Given the description of an element on the screen output the (x, y) to click on. 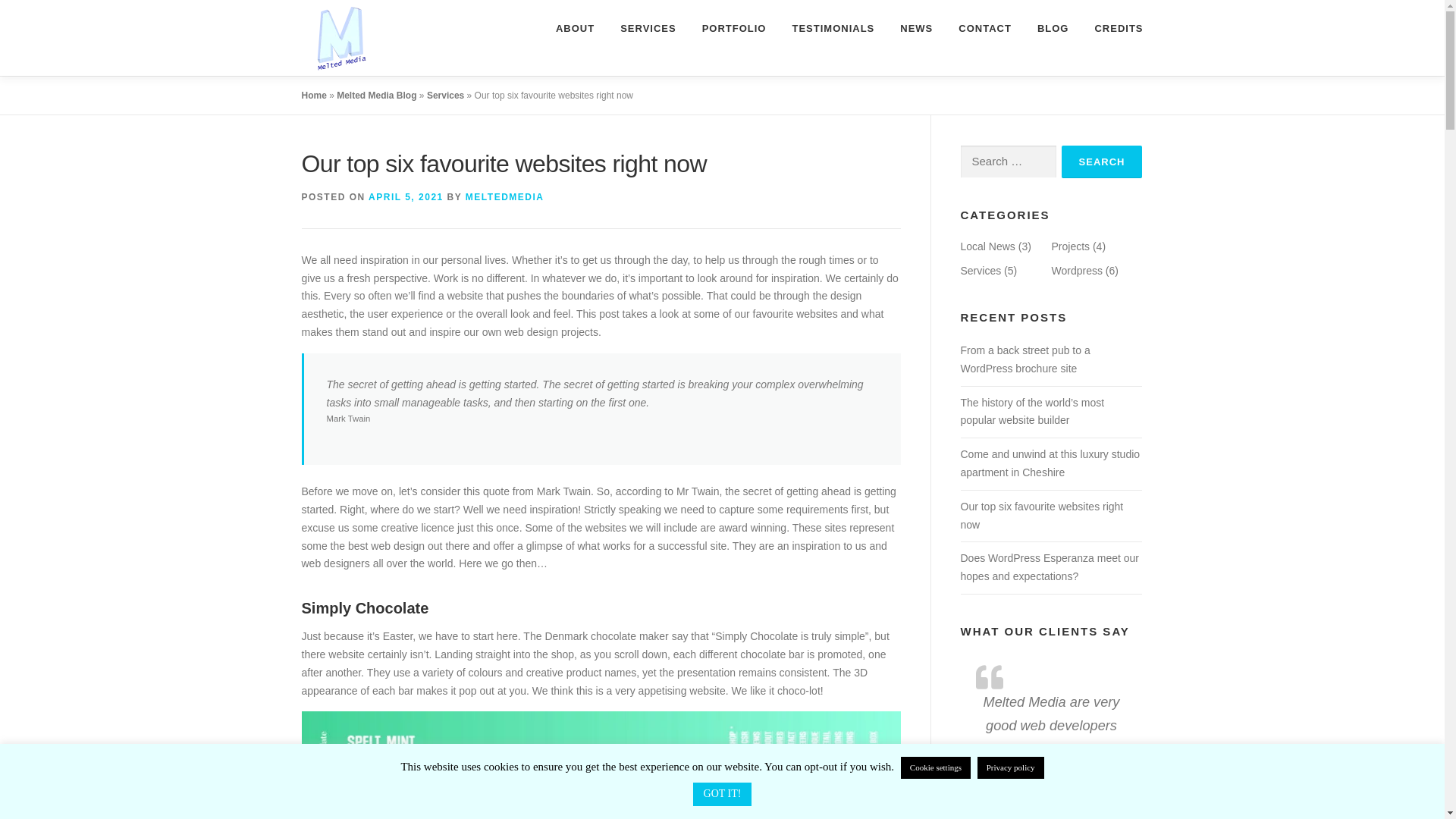
Projects (1070, 246)
CREDITS (1111, 28)
Services (445, 95)
ABOUT (575, 28)
CONTACT (984, 28)
Melted Media Blog (376, 95)
Services (980, 270)
Local News (986, 246)
Search (1101, 161)
TESTIMONIALS (833, 28)
Our top six favourite websites right now (1040, 515)
SERVICES (647, 28)
APRIL 5, 2021 (406, 196)
Wordpress (1076, 270)
Search (1101, 161)
